Given the description of an element on the screen output the (x, y) to click on. 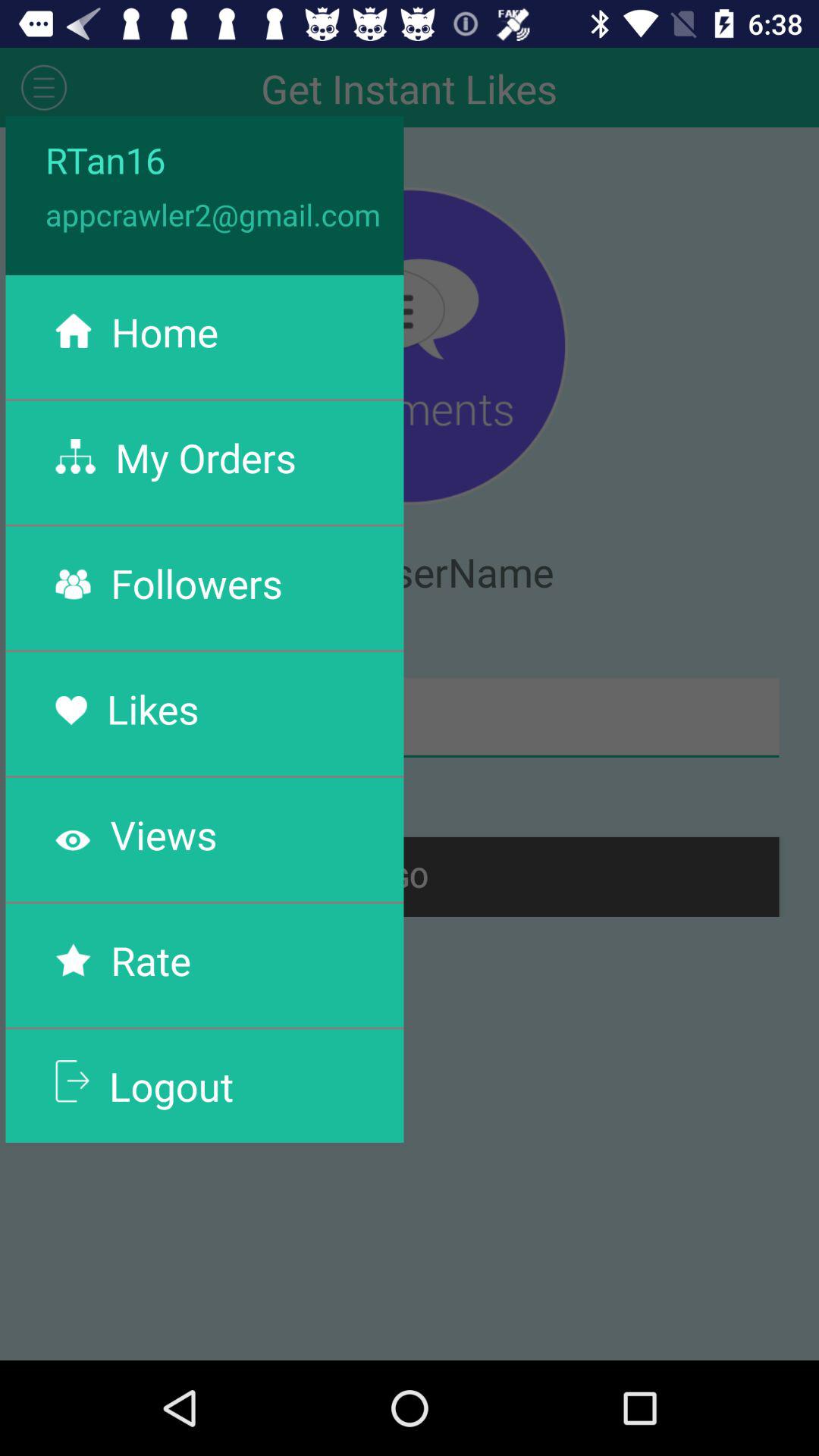
launch the views app (163, 834)
